Given the description of an element on the screen output the (x, y) to click on. 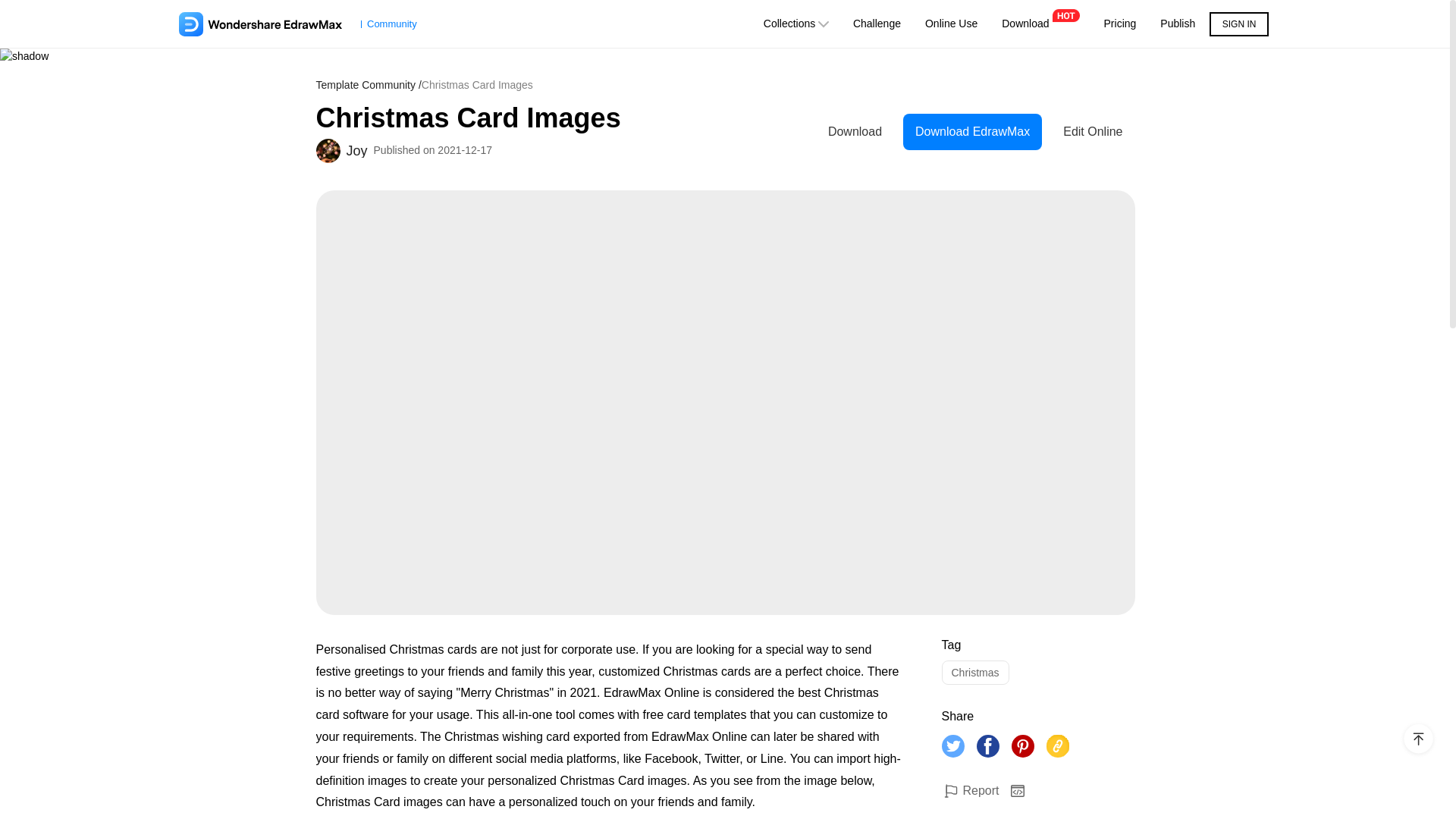
Pricing (1120, 23)
Online Use (951, 23)
Challenge (876, 23)
SIGN IN (1239, 22)
Christmas Card Images (565, 117)
Publish (1177, 23)
Download (1040, 23)
Christmas (975, 672)
Collections (796, 23)
Download EdrawMax (976, 131)
Community (297, 23)
